Given the description of an element on the screen output the (x, y) to click on. 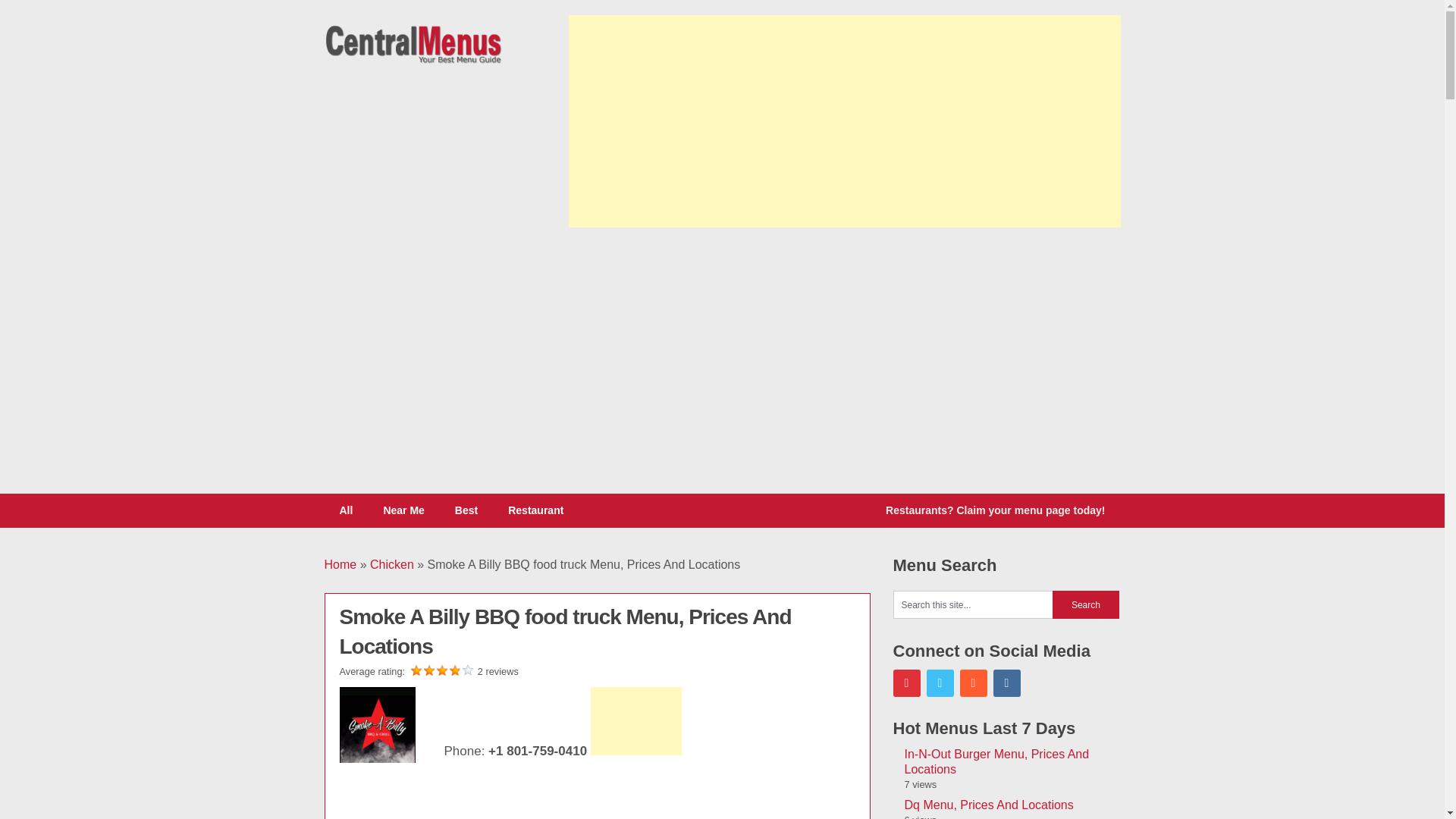
Smoke A Billy BBQ food truck store hours (376, 724)
Restaurant (535, 510)
Twitter (939, 682)
All (346, 510)
Pinterest (906, 682)
Advertisement (845, 351)
Advertisement (489, 793)
Search (1085, 604)
Restaurants? Claim your menu page today! (994, 510)
Search (1085, 604)
